Given the description of an element on the screen output the (x, y) to click on. 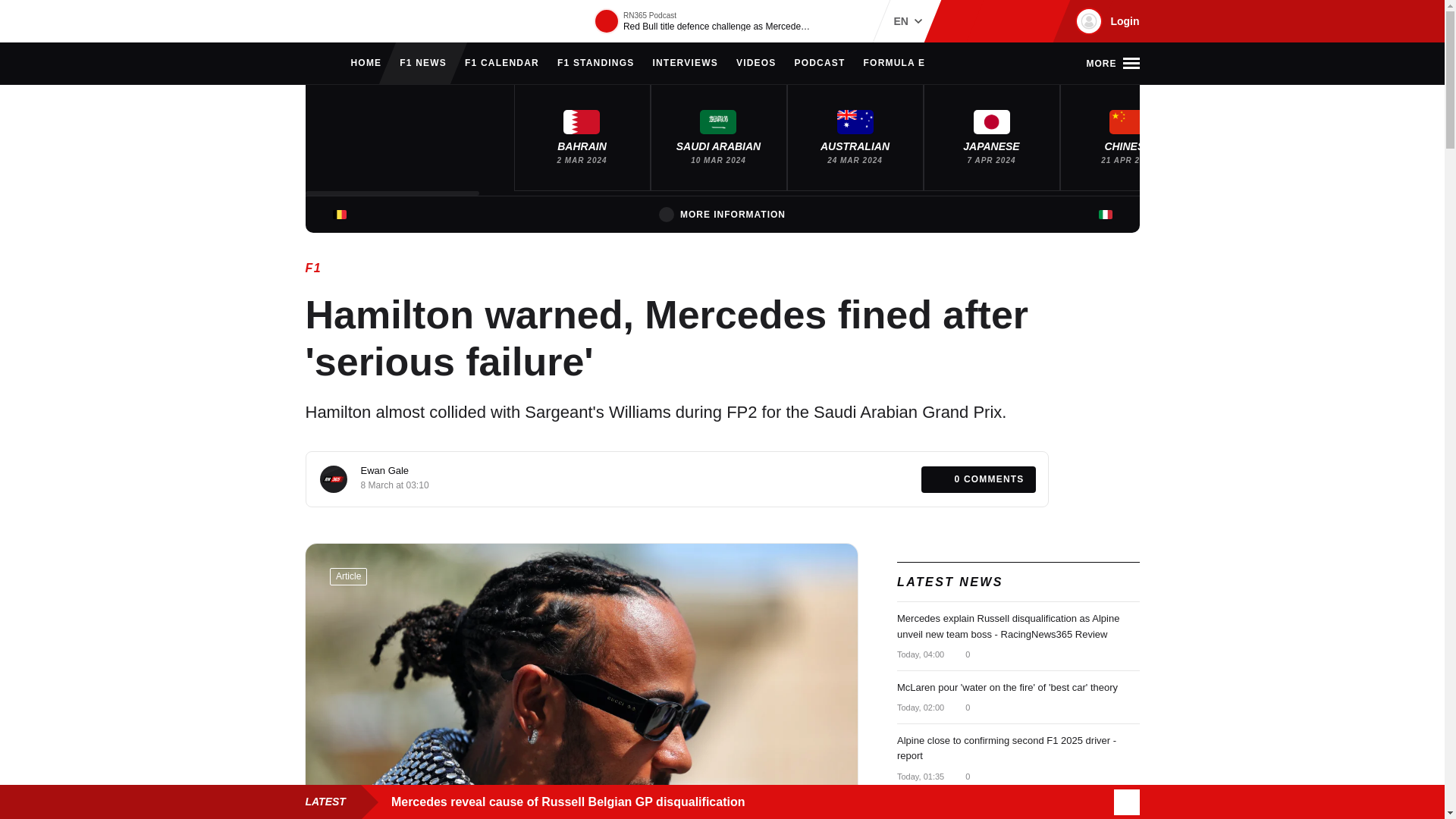
RacingNews365 on Facebook (986, 21)
INTERVIEWS (684, 63)
RacingNews365 (350, 21)
RacingNews365 on Instagram (962, 21)
RacingNews365 on X (1010, 21)
PODCAST (818, 63)
F1 NEWS (422, 63)
Login (1104, 21)
F1 STANDINGS (595, 63)
FORMULA E (894, 63)
MORE INFORMATION (722, 214)
VIDEOS (756, 63)
RacingNews365 on YouTube (1034, 21)
F1 CALENDAR (501, 63)
Friday, 8 March 2024 at 03:10 (395, 484)
